Given the description of an element on the screen output the (x, y) to click on. 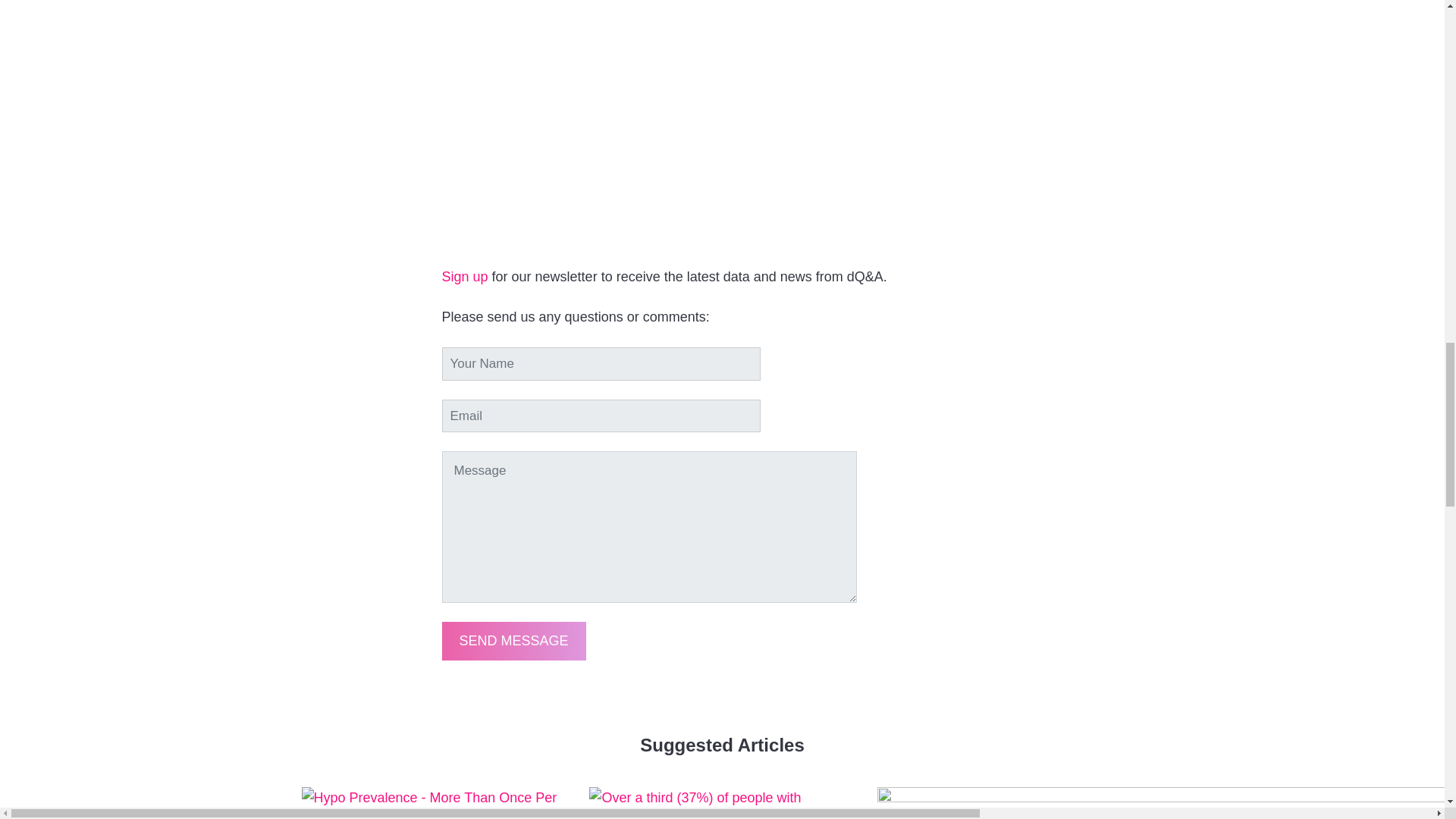
Sign up (464, 276)
SEND MESSAGE (513, 640)
SEND MESSAGE (513, 640)
